Given the description of an element on the screen output the (x, y) to click on. 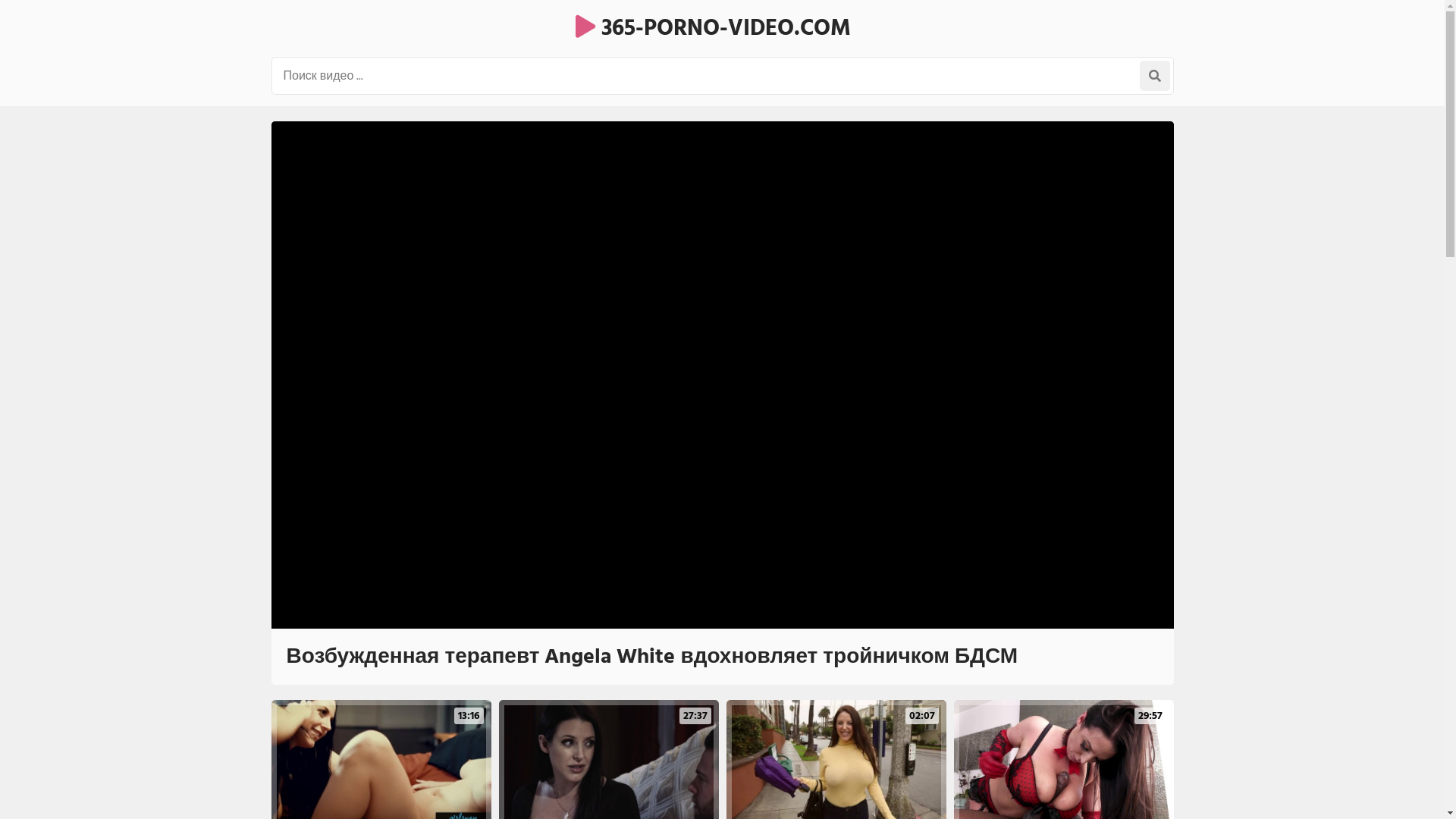
365-PORNO-VIDEO.COM Element type: text (712, 27)
